Given the description of an element on the screen output the (x, y) to click on. 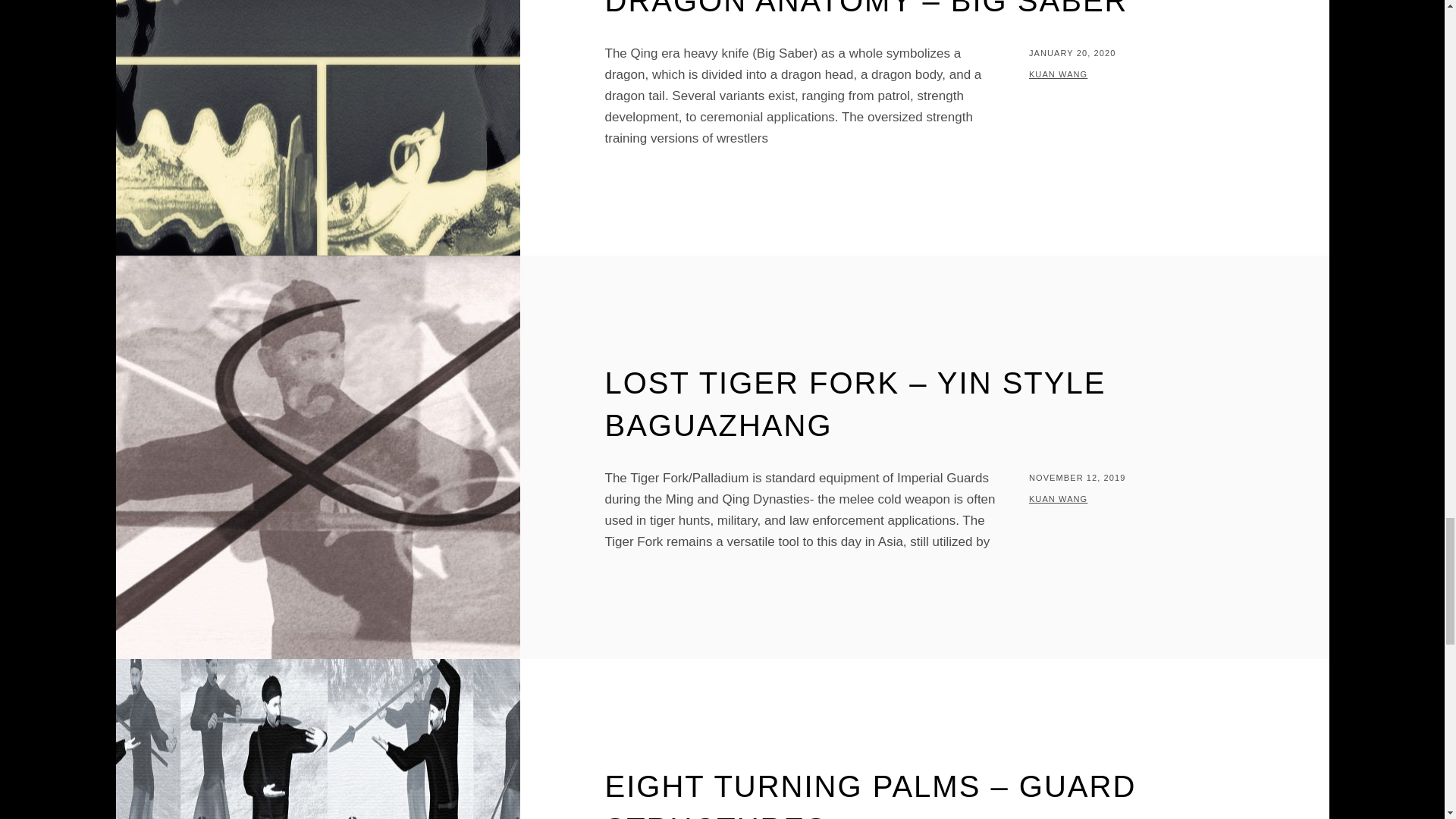
KUAN WANG (1058, 73)
